Given the description of an element on the screen output the (x, y) to click on. 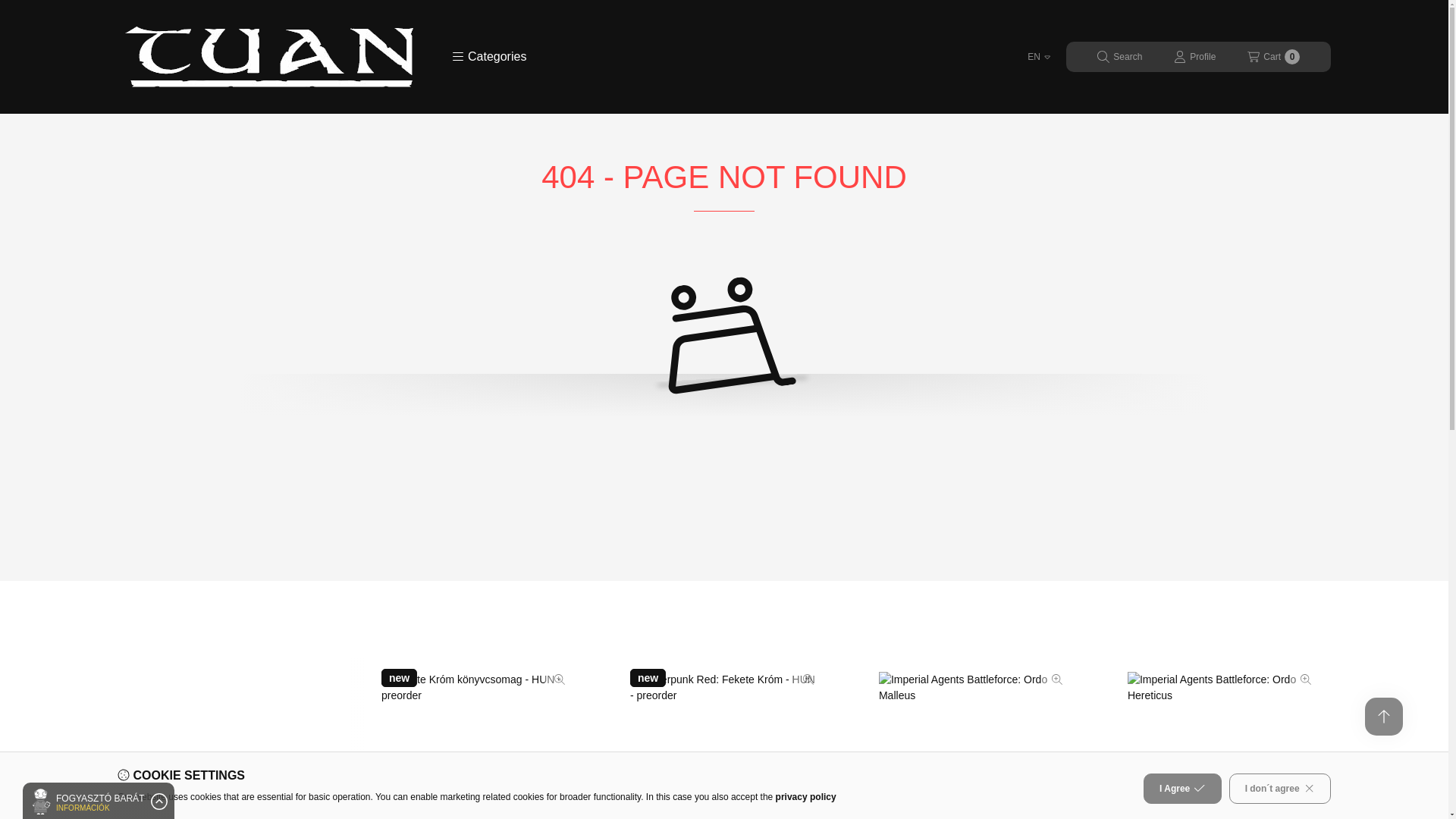
Search (1119, 56)
Imperial Agents Battleforce: Ordo Malleus (973, 745)
Imperial Agents Battleforce: Ordo Hereticus (1273, 56)
Profile (1221, 745)
